Given the description of an element on the screen output the (x, y) to click on. 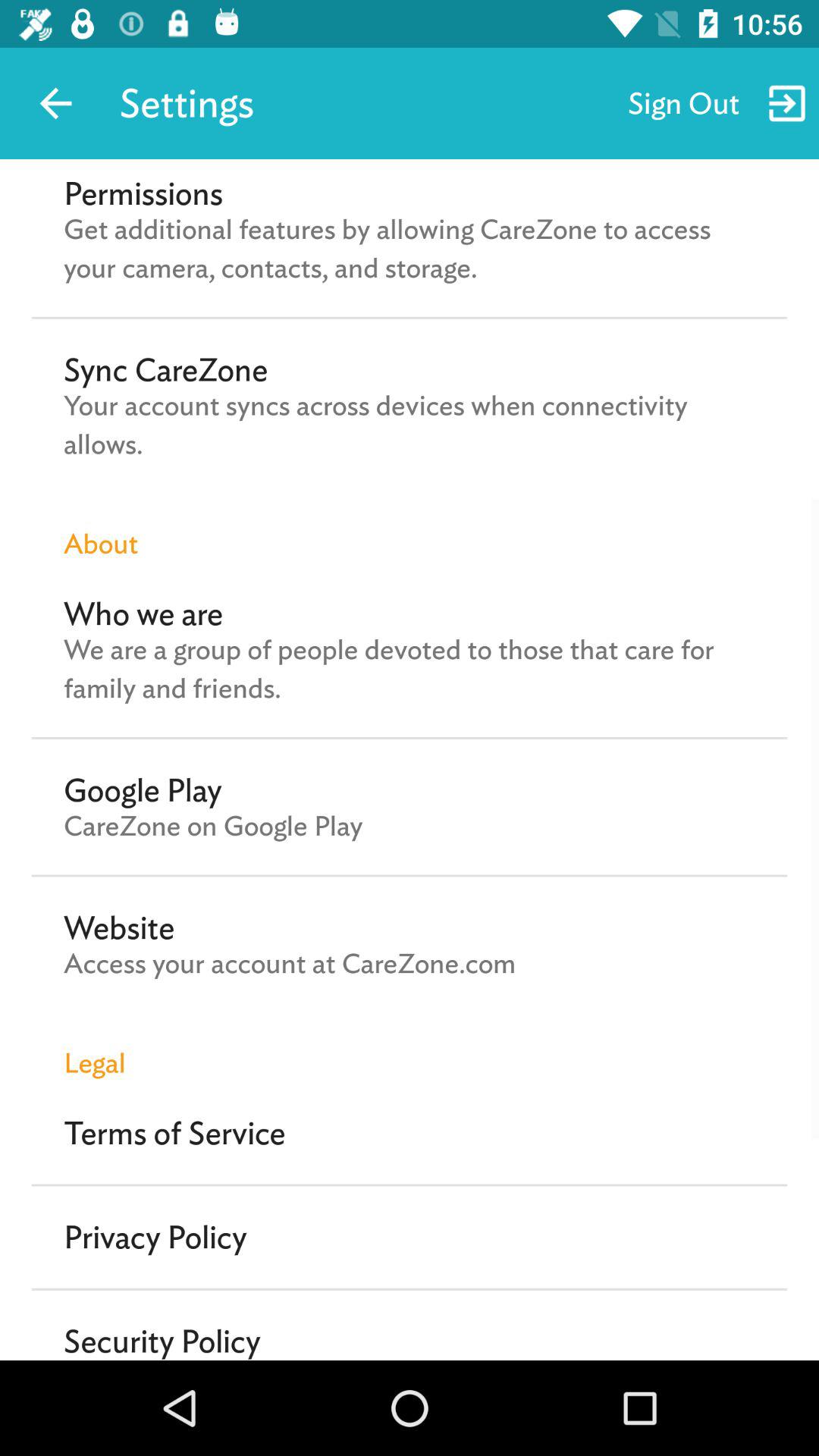
press the item below google play (212, 825)
